Given the description of an element on the screen output the (x, y) to click on. 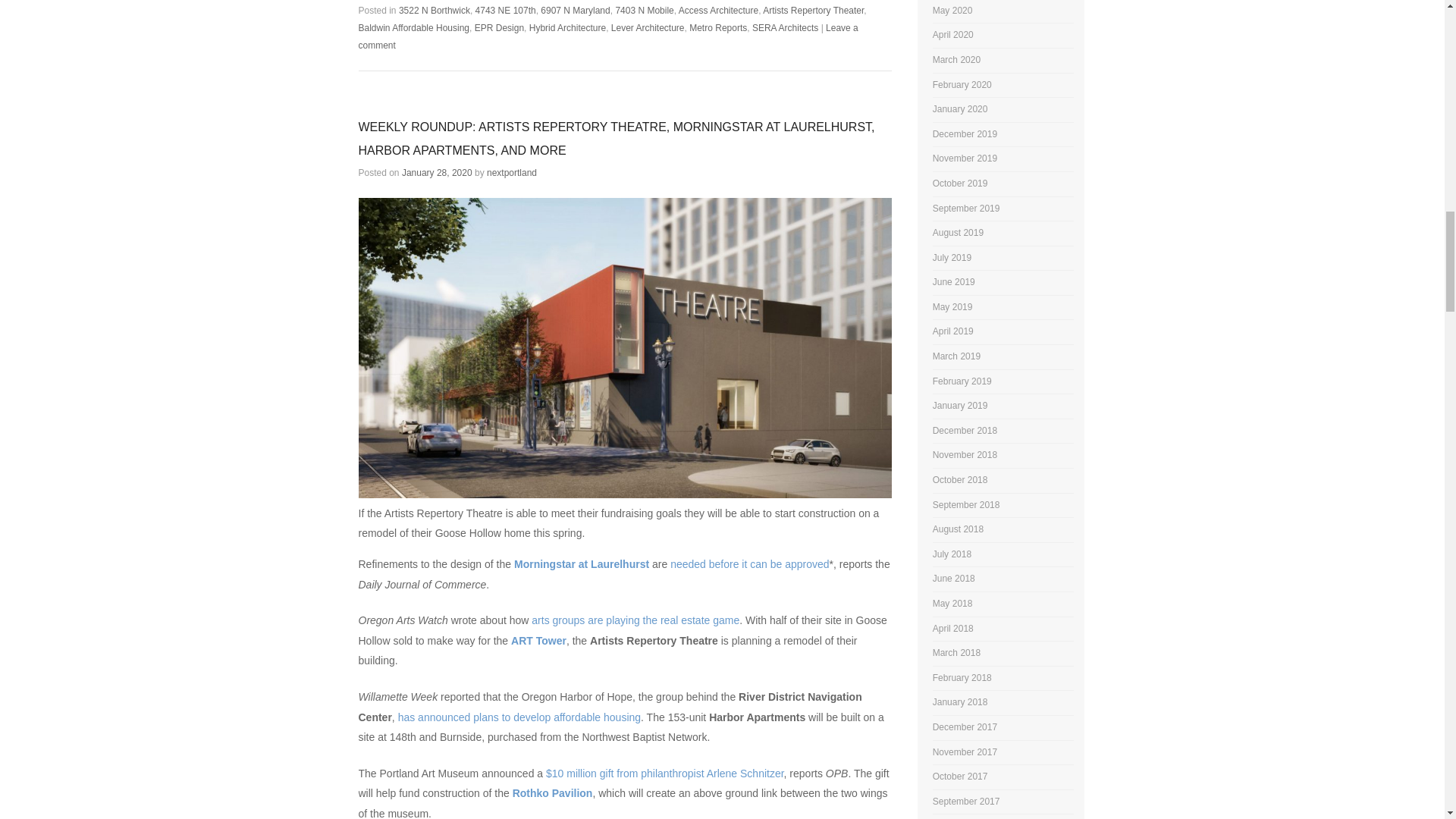
arts groups are playing the real estate game (635, 620)
needed before it can be approved (748, 563)
7403 N Mobile (643, 9)
3522 N Borthwick (434, 9)
Artists Repertory Theater (812, 9)
Leave a comment (607, 36)
Access Architecture (718, 9)
EPR Design (499, 27)
nextportland (511, 172)
